Given the description of an element on the screen output the (x, y) to click on. 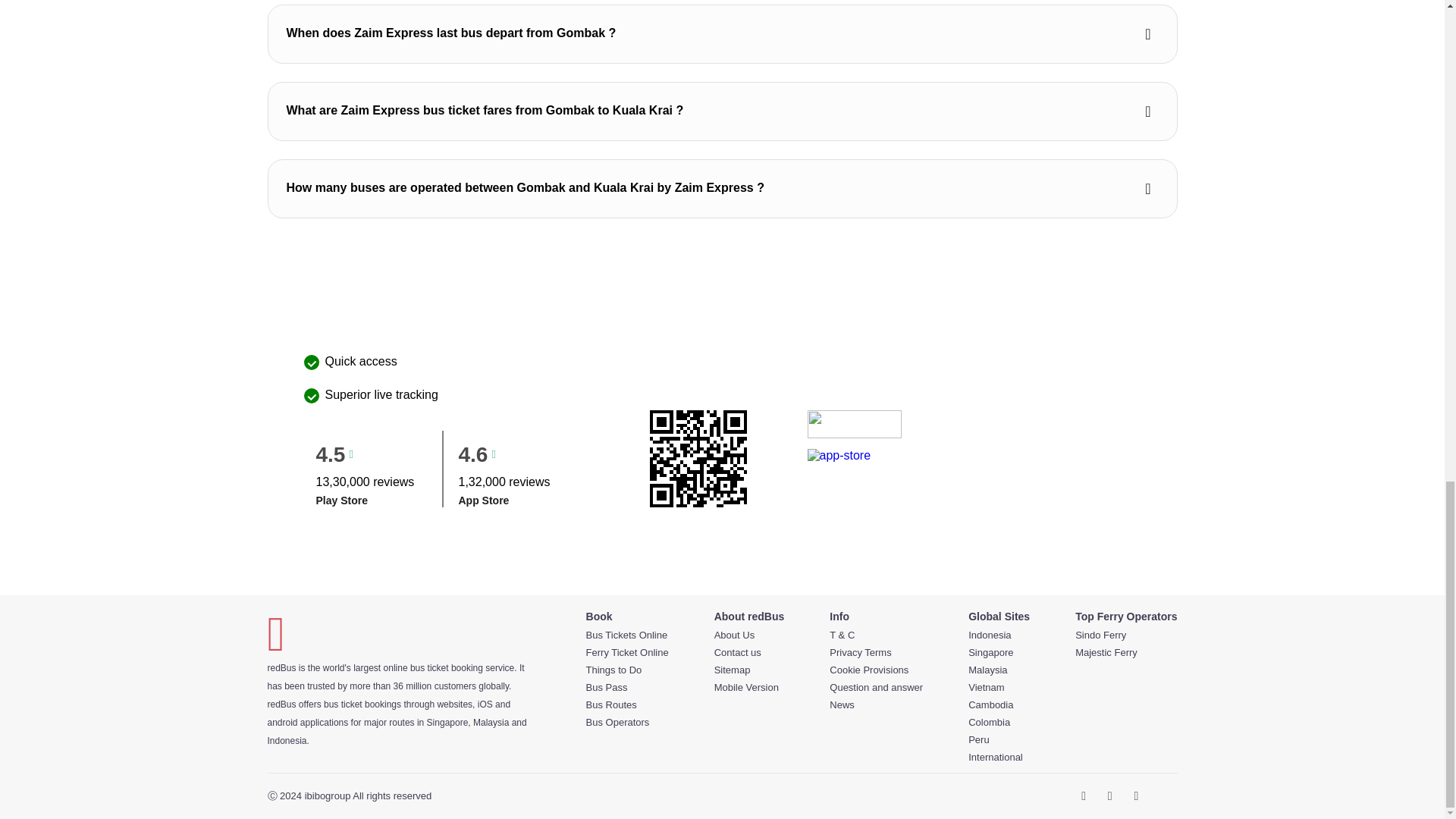
Privacy Terms (876, 652)
LinkedIn (1161, 795)
Bus Operators (627, 722)
twitter (1109, 795)
Cookie Provisions (876, 669)
facebook (1083, 795)
Instagram (1135, 795)
Things to Do (627, 669)
Mobile Version (749, 687)
Bus Tickets Online (627, 634)
Sitemap (749, 669)
Contact us (749, 652)
online bus ticket booking (433, 667)
Bus Routes (627, 705)
About Us (749, 634)
